Given the description of an element on the screen output the (x, y) to click on. 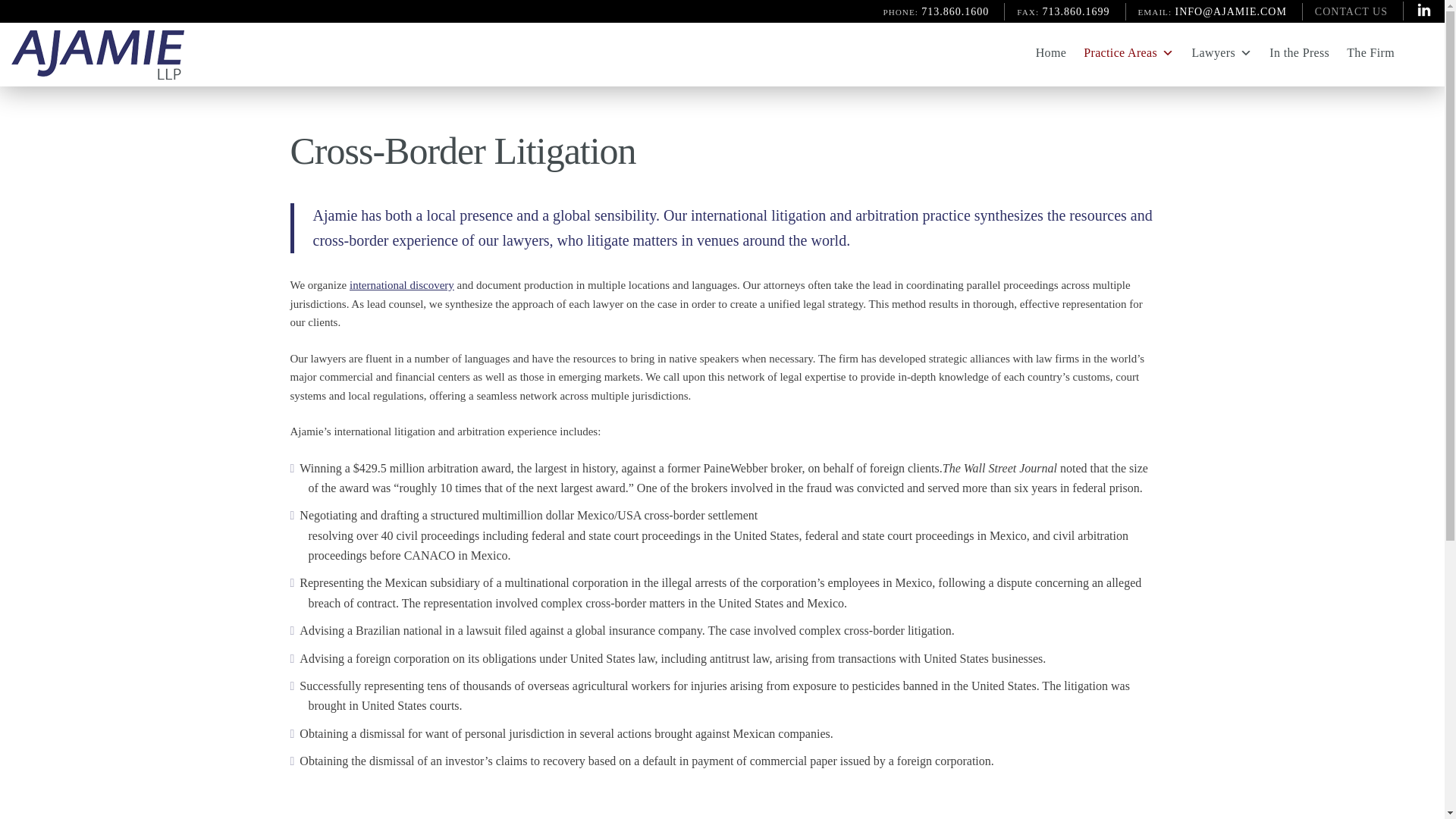
Lawyers (1212, 52)
Home (1042, 52)
Practice Areas (1119, 52)
CONTACT US (1350, 11)
